Given the description of an element on the screen output the (x, y) to click on. 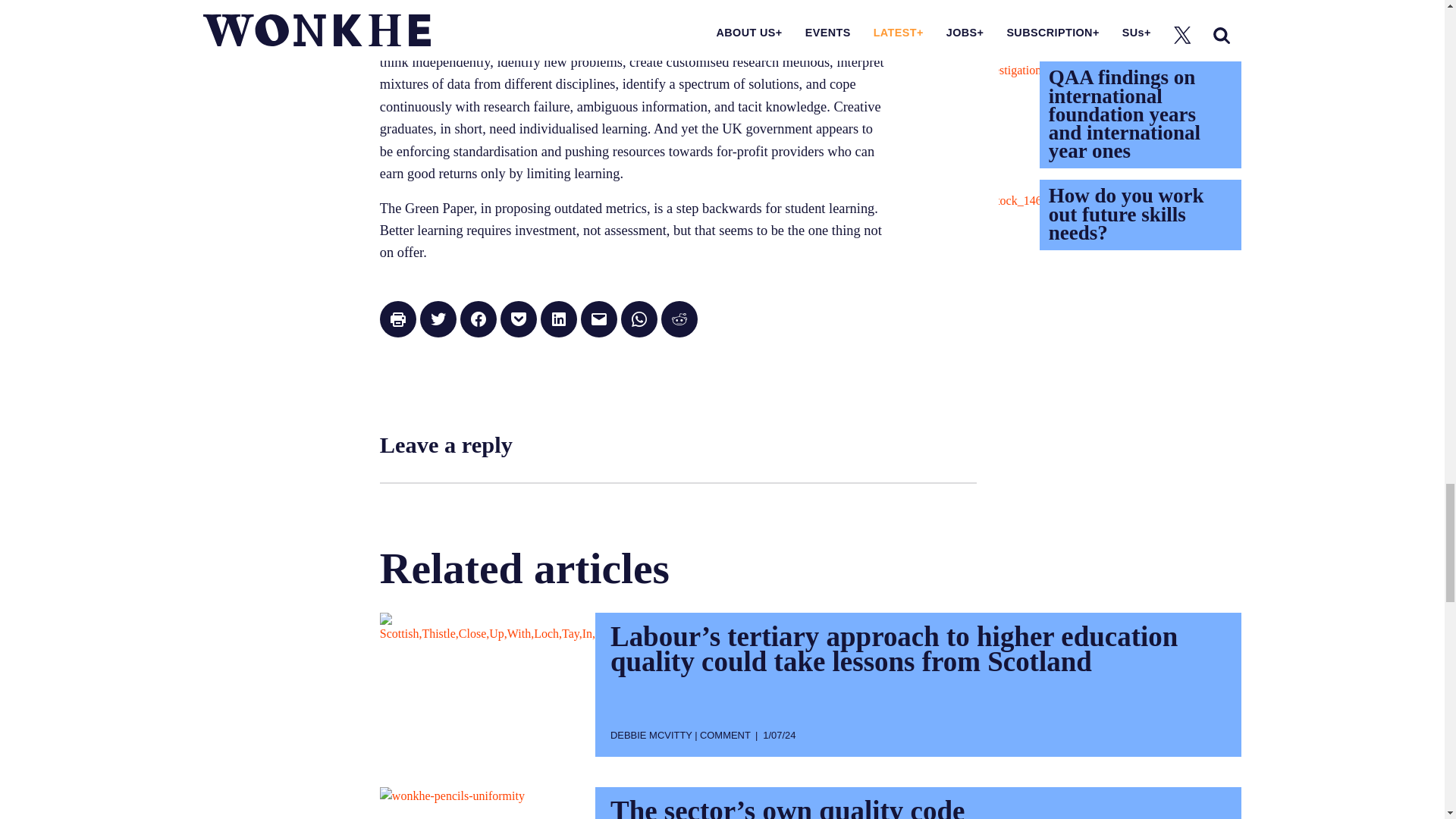
Click to share on Reddit (679, 319)
Click to share on WhatsApp (639, 319)
Click to share on LinkedIn (558, 319)
Click to share on Facebook (478, 319)
Click to share on Twitter (438, 319)
Click to share on Pocket (518, 319)
Click to print (398, 319)
Click to email this to a friend (598, 319)
